Given the description of an element on the screen output the (x, y) to click on. 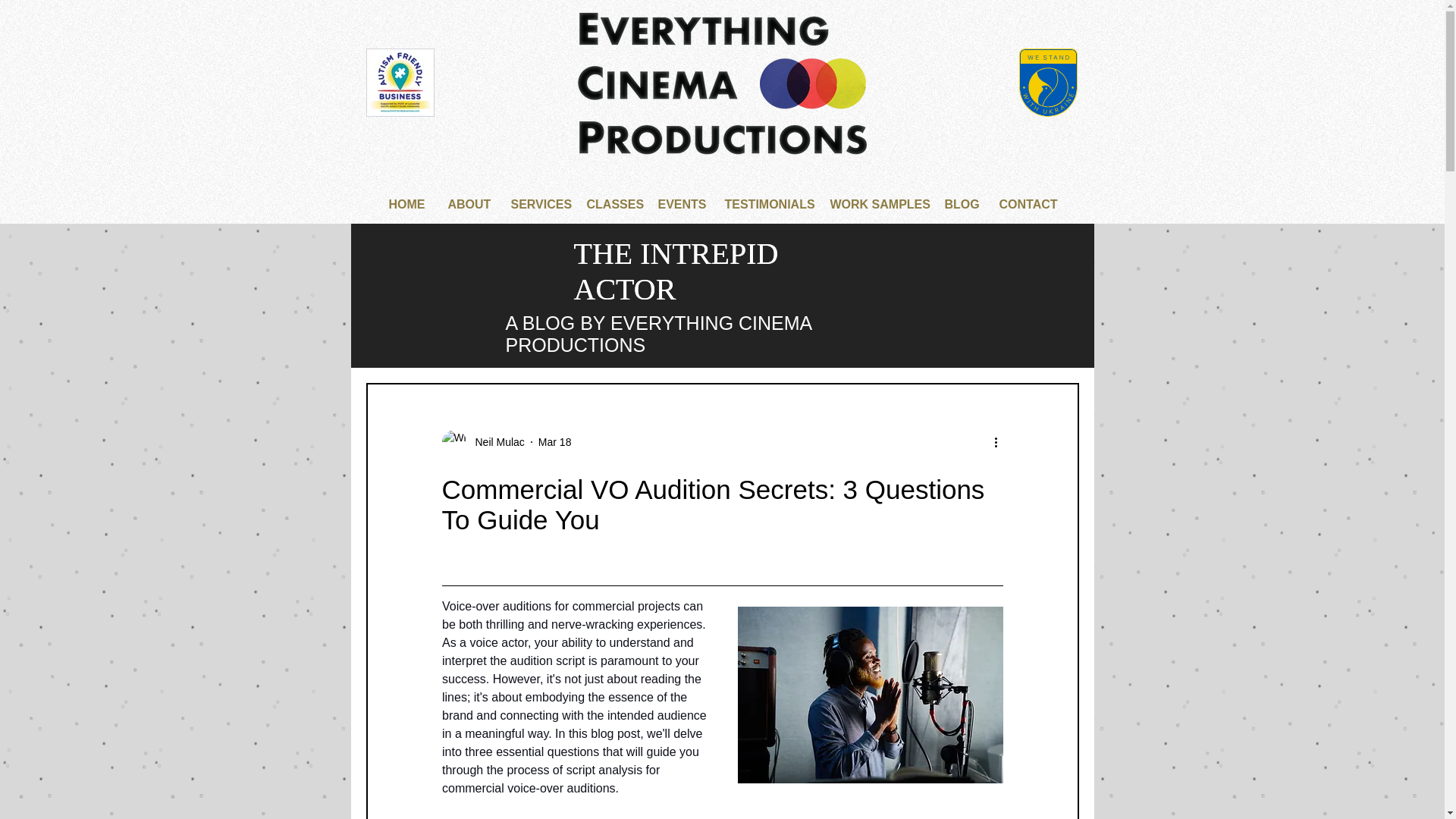
CONTACT (1027, 204)
Mar 18 (555, 440)
Neil Mulac (494, 441)
ABOUT (467, 204)
CLASSES (610, 204)
WORK SAMPLES (875, 204)
TESTIMONIALS (765, 204)
SERVICES (537, 204)
HOME (406, 204)
BLOG (960, 204)
Neil Mulac (482, 441)
EVENTS (679, 204)
